Given the description of an element on the screen output the (x, y) to click on. 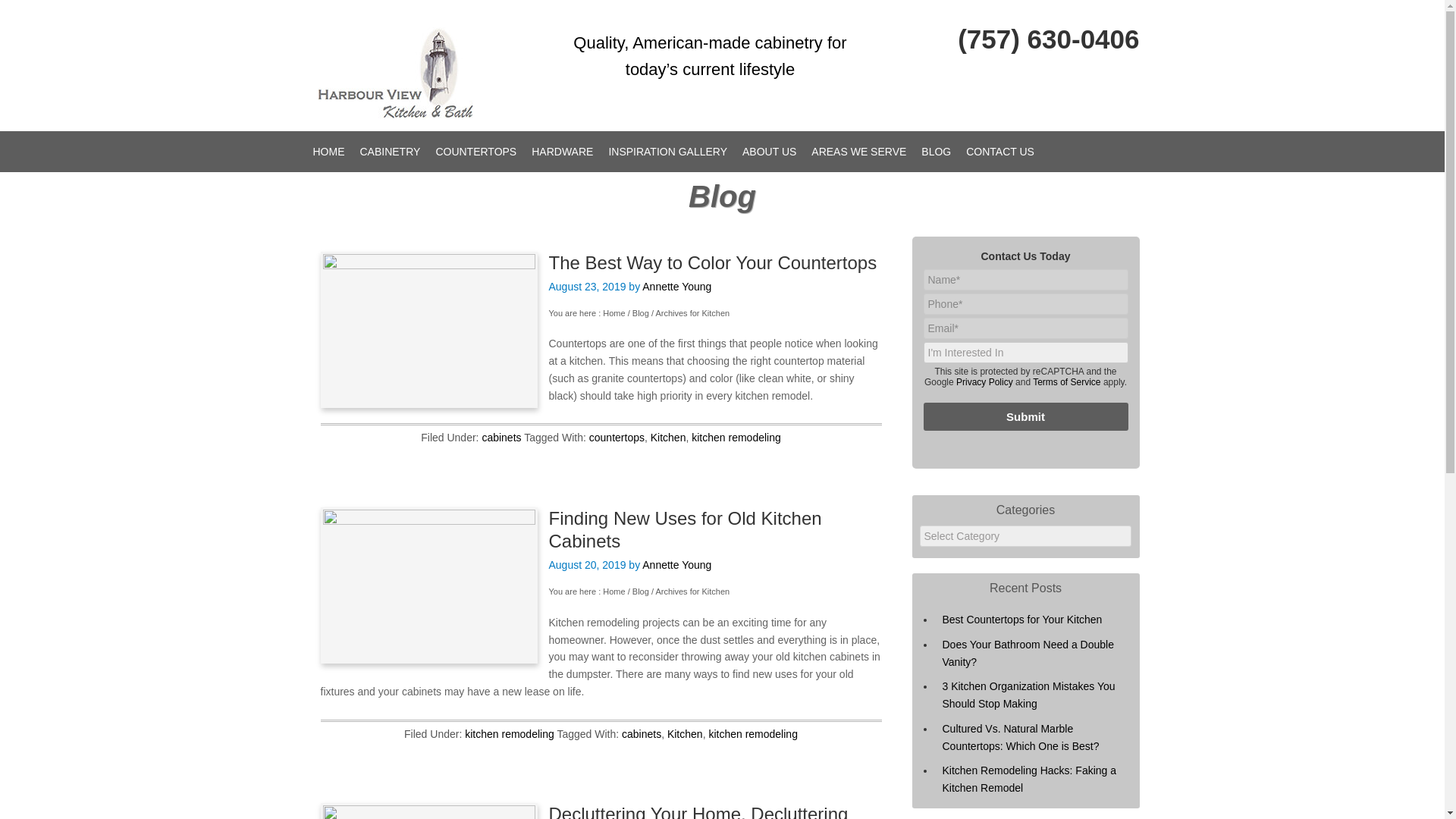
Facebook (1094, 73)
kitchen remodeling (509, 734)
cabinets (641, 734)
countertops (617, 437)
Publishing (428, 584)
Kitchen (667, 437)
CONTACT US (1000, 151)
kitchen remodeling (735, 437)
The Best Way to Color Your Countertops (712, 262)
CABINETRY (390, 151)
Blog (640, 311)
Houzz (1126, 73)
You are here : Home (587, 591)
Annette Young (676, 564)
HARDWARE (561, 151)
